Given the description of an element on the screen output the (x, y) to click on. 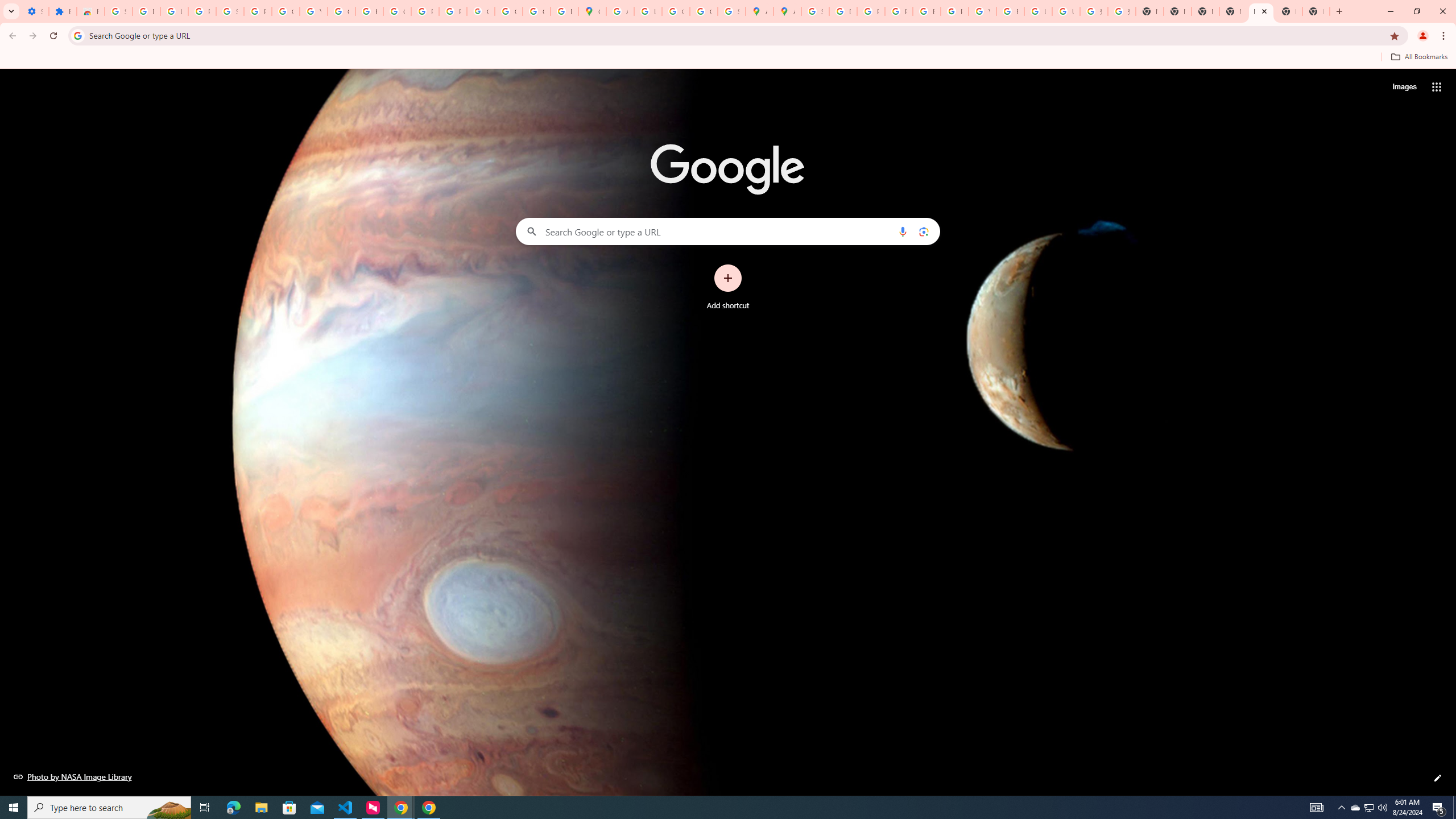
Customize this page (1437, 778)
Create your Google Account (675, 11)
Sign in - Google Accounts (118, 11)
